Given the description of an element on the screen output the (x, y) to click on. 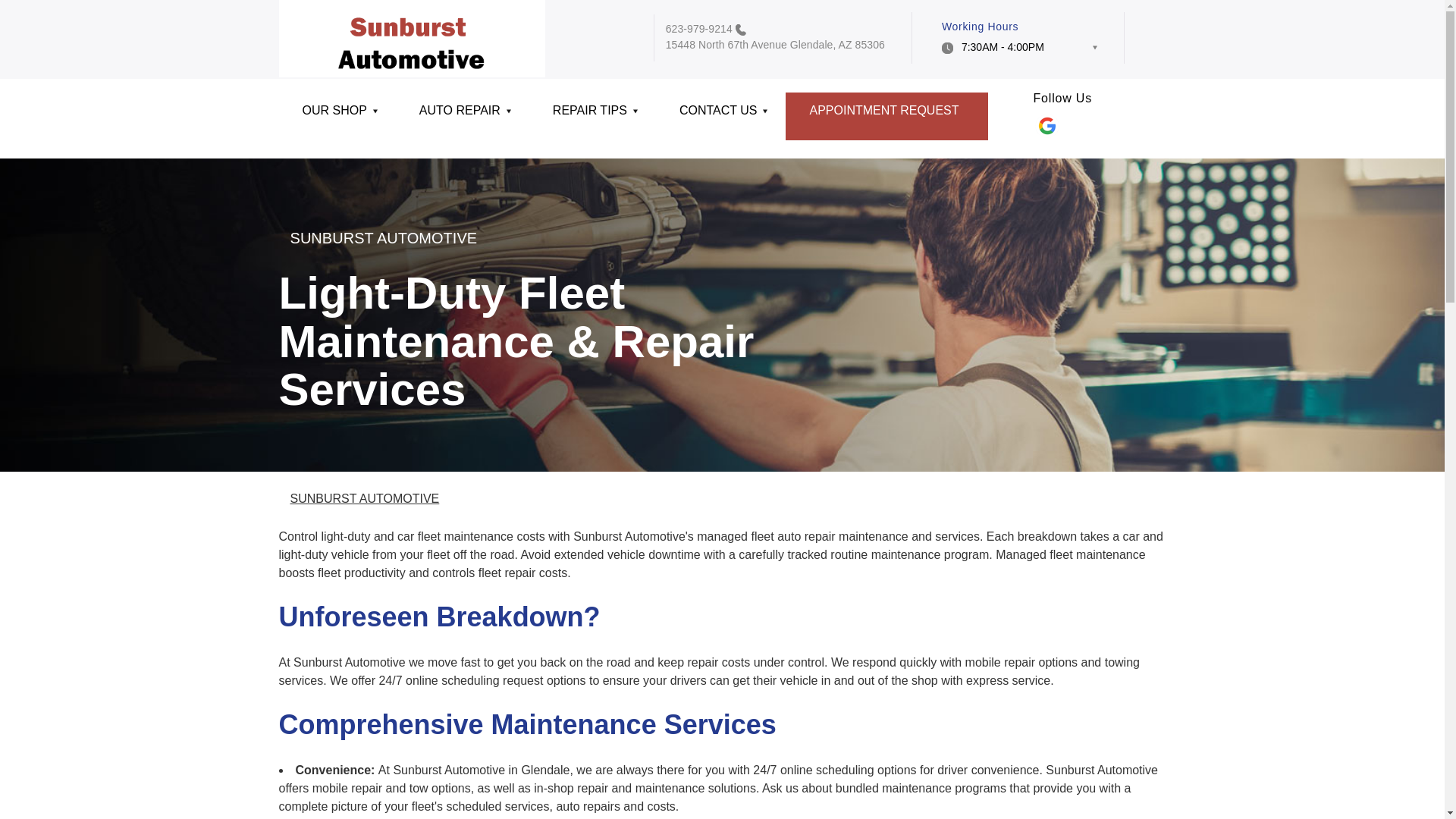
REPAIR TIPS (592, 116)
AUTO REPAIR (462, 116)
623-979-9214 (698, 28)
SUNBURST AUTOMOTIVE (383, 238)
SUNBURST AUTOMOTIVE (364, 498)
OUR SHOP (337, 116)
APPOINTMENT REQUEST (886, 116)
7:30AM - 4:00PM (1019, 51)
CONTACT US (721, 116)
